Given the description of an element on the screen output the (x, y) to click on. 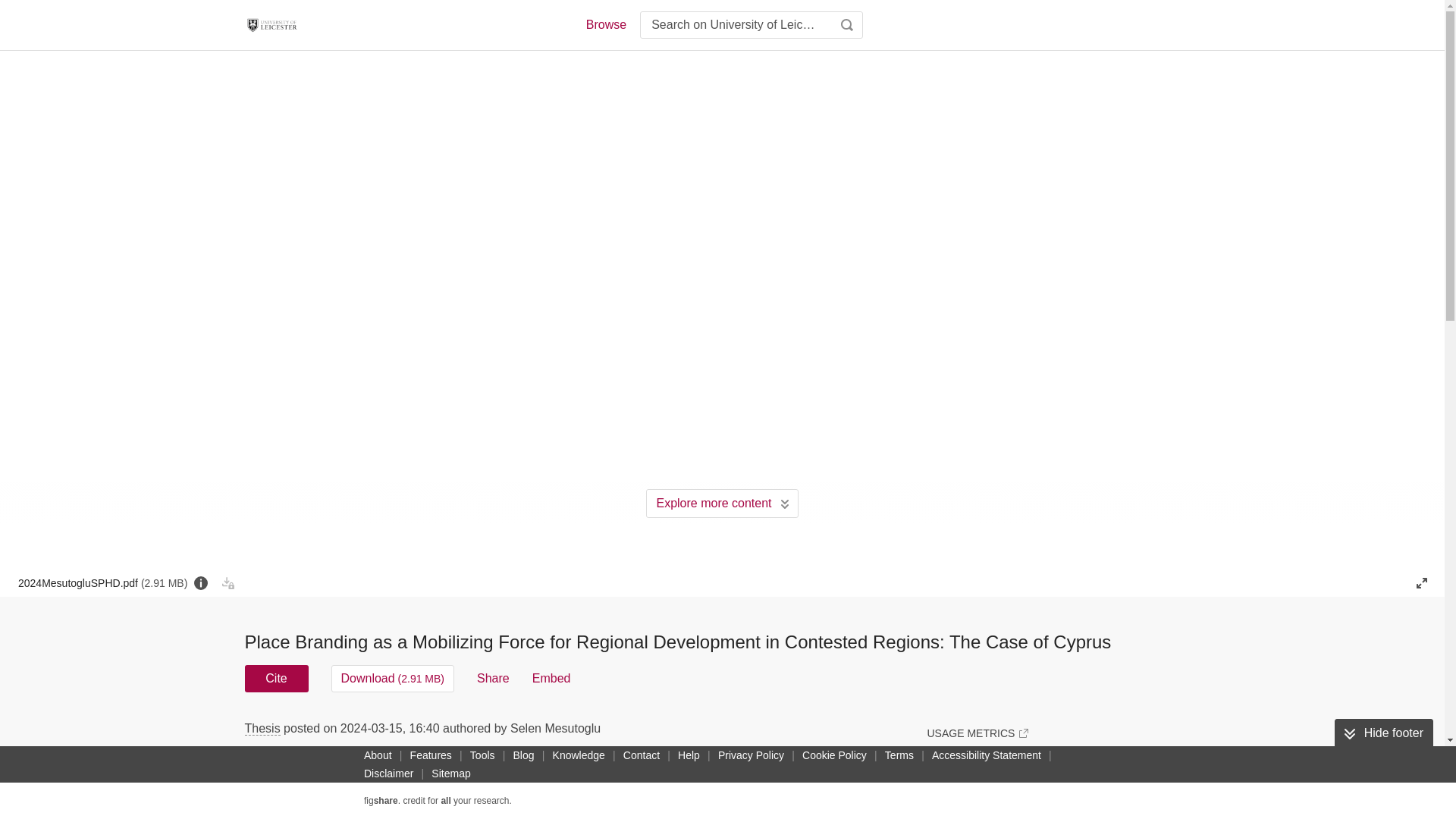
Cite (275, 678)
Tools (482, 755)
Privacy Policy (751, 755)
Embed (551, 678)
Features (431, 755)
Knowledge (579, 755)
Explore more content (721, 502)
Blog (523, 755)
Cookie Policy (833, 755)
Hide footer (1383, 733)
Share (493, 678)
USAGE METRICS (976, 732)
About (377, 755)
Help (688, 755)
